Given the description of an element on the screen output the (x, y) to click on. 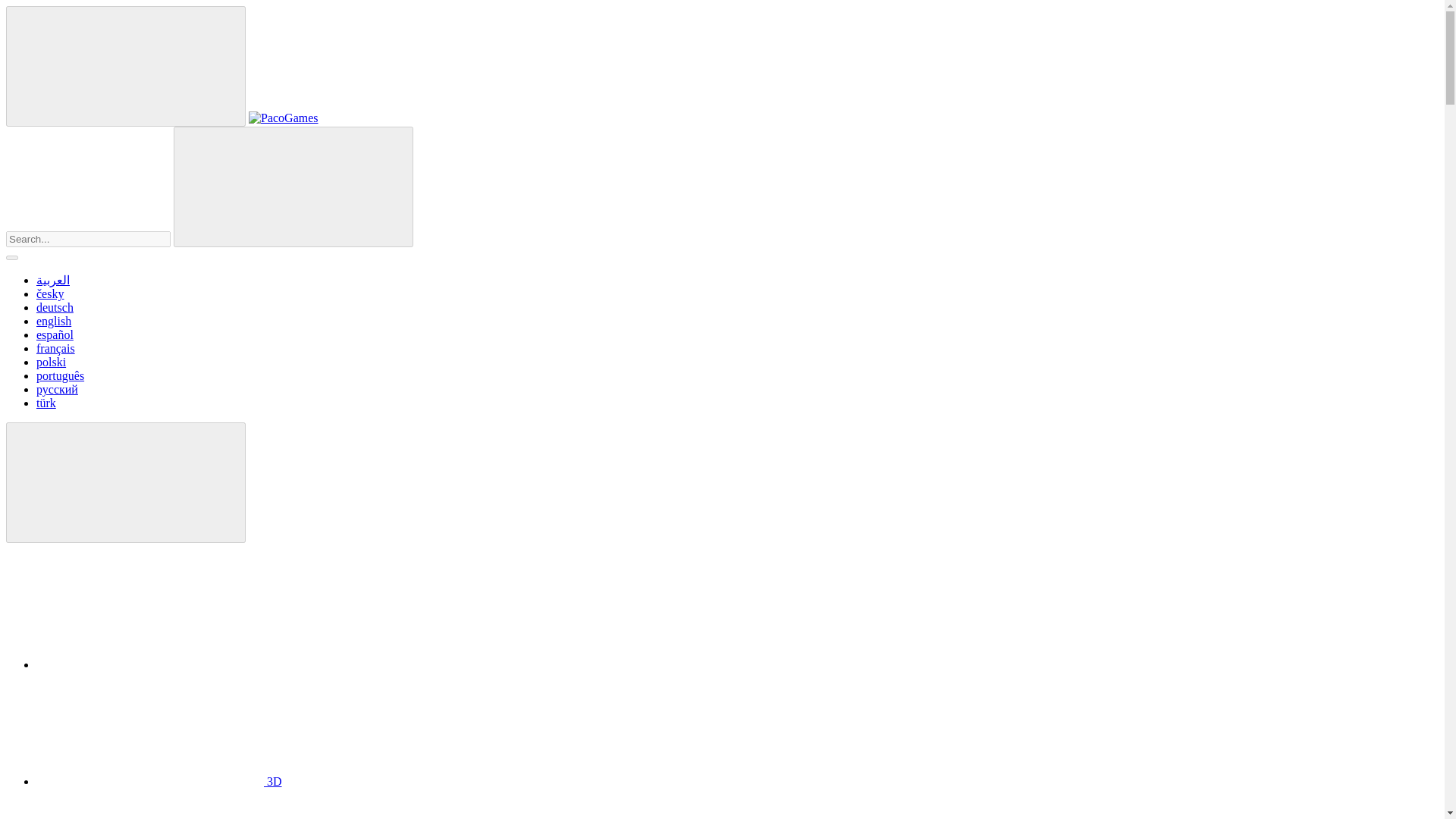
3D Games (159, 780)
english (53, 320)
3D (159, 780)
deutsch (55, 307)
polski (50, 361)
